Given the description of an element on the screen output the (x, y) to click on. 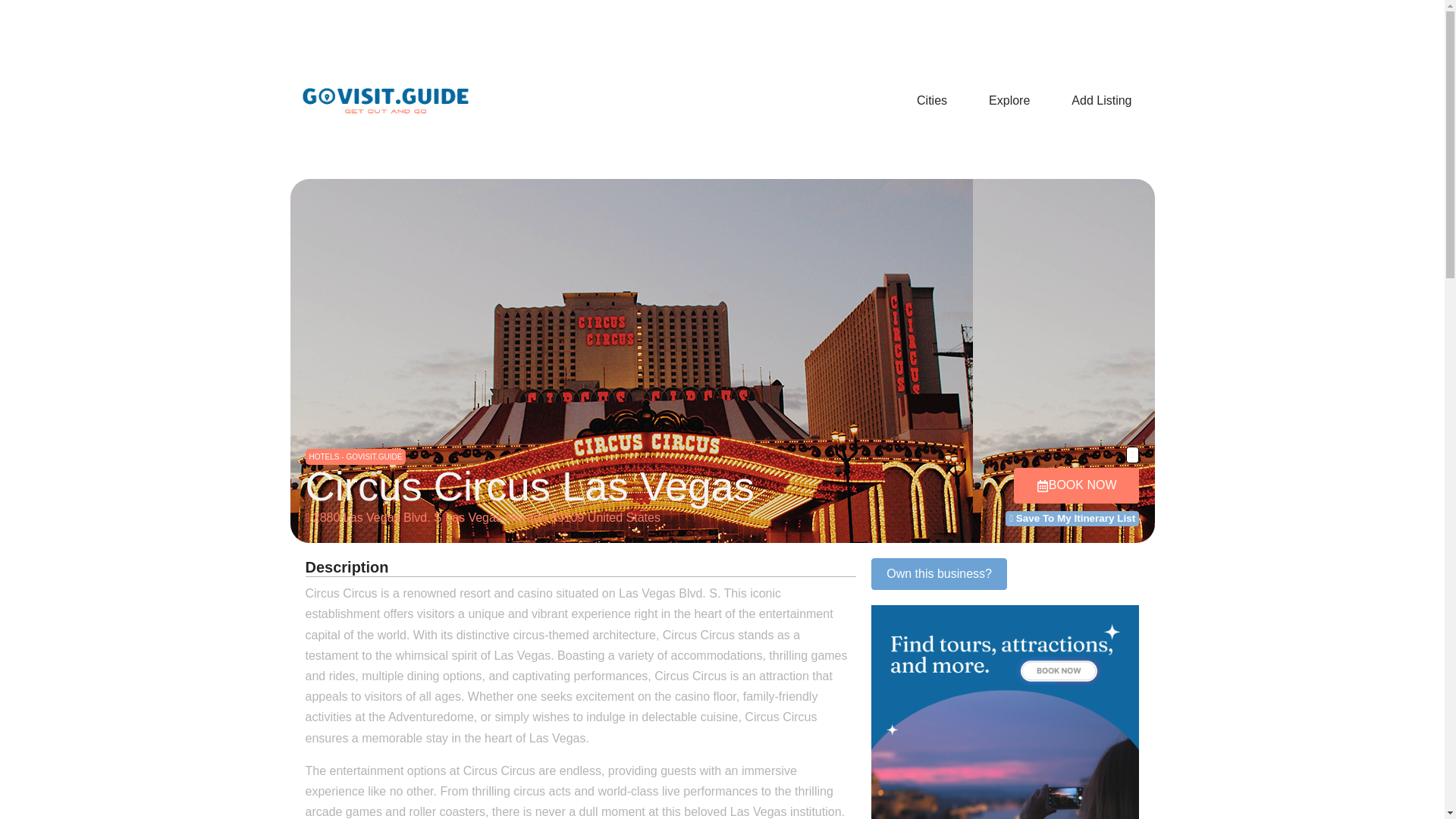
Cities (931, 100)
Skip to content (11, 31)
Explore (1009, 100)
Add Listing (1102, 100)
